Given the description of an element on the screen output the (x, y) to click on. 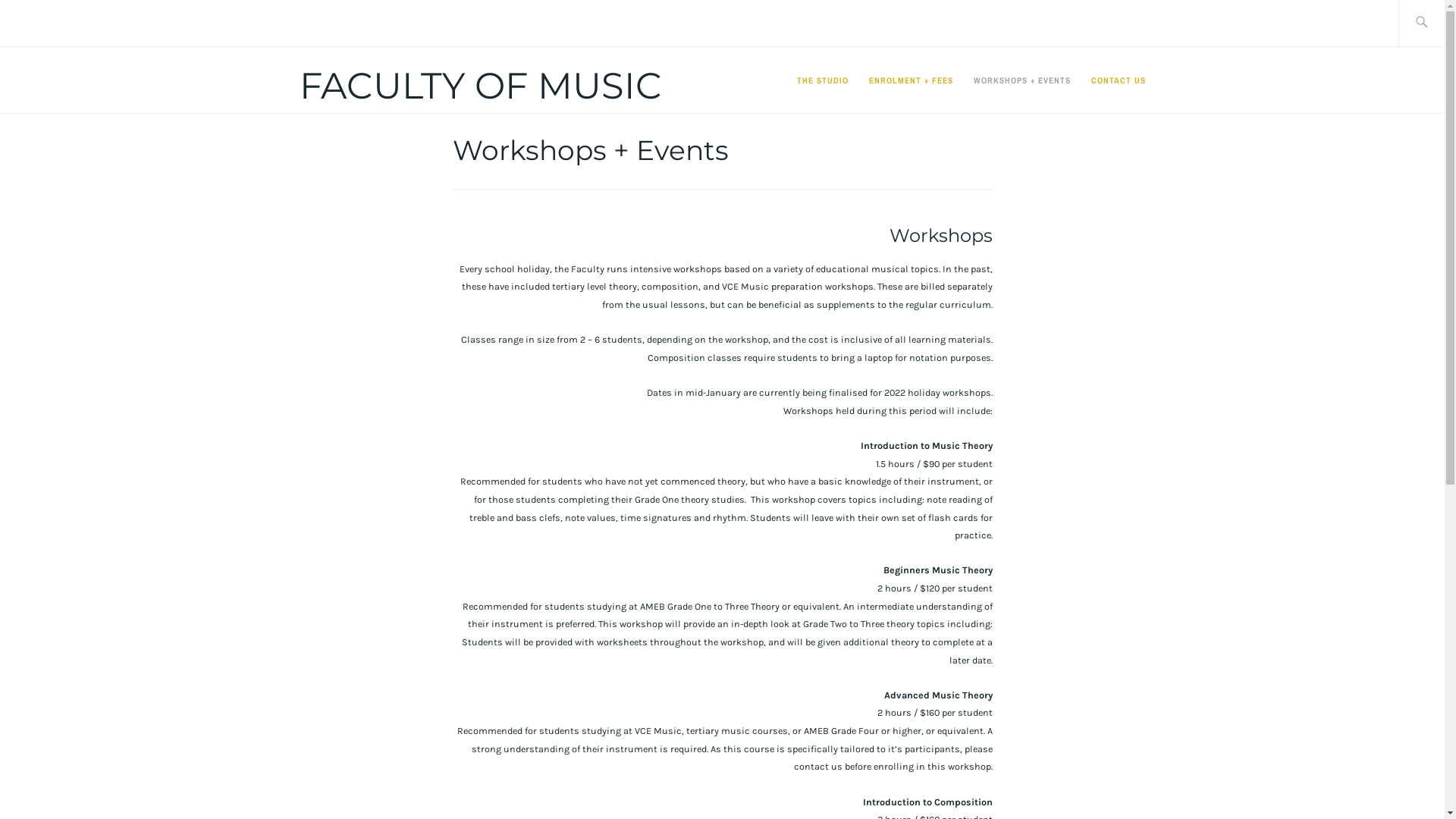
Search for: Element type: hover (1440, 23)
WORKSHOPS + EVENTS Element type: text (1021, 79)
FACULTY OF MUSIC Element type: text (479, 85)
THE STUDIO Element type: text (822, 79)
Search Element type: text (32, 15)
CONTACT US Element type: text (1117, 79)
ENROLMENT + FEES Element type: text (911, 79)
